Given the description of an element on the screen output the (x, y) to click on. 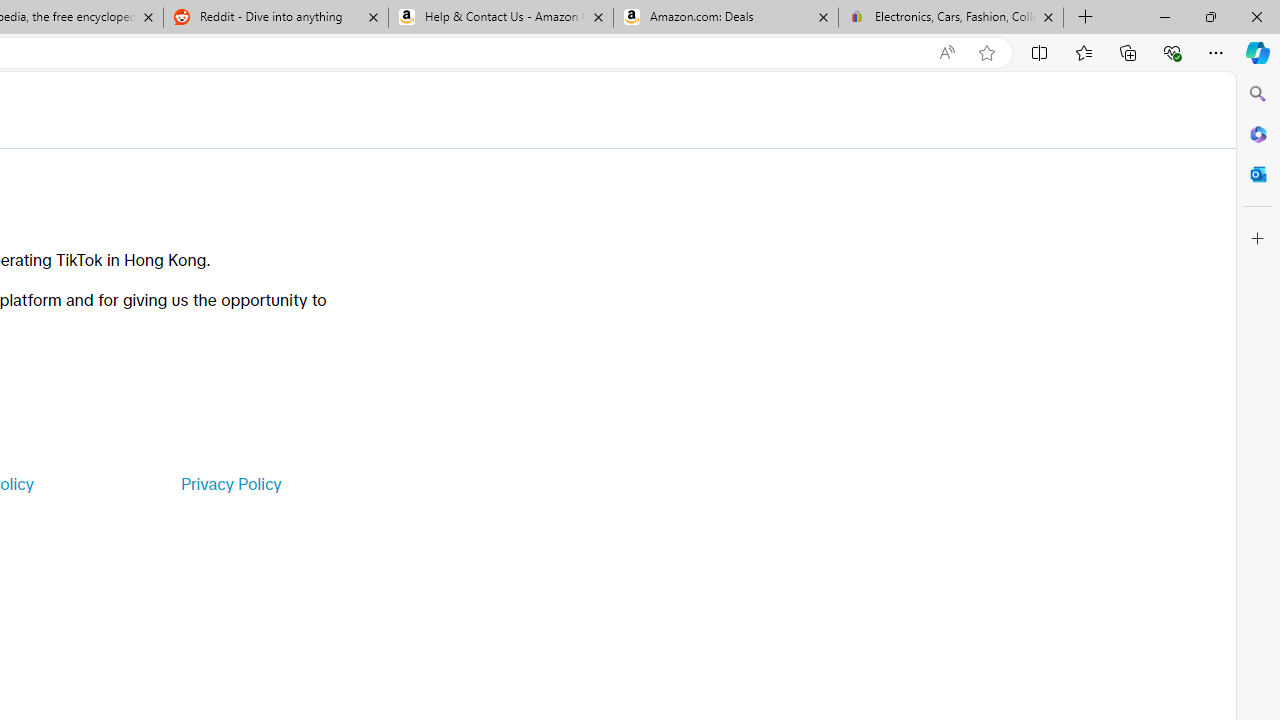
Electronics, Cars, Fashion, Collectibles & More | eBay (950, 17)
Help & Contact Us - Amazon Customer Service (501, 17)
